Given the description of an element on the screen output the (x, y) to click on. 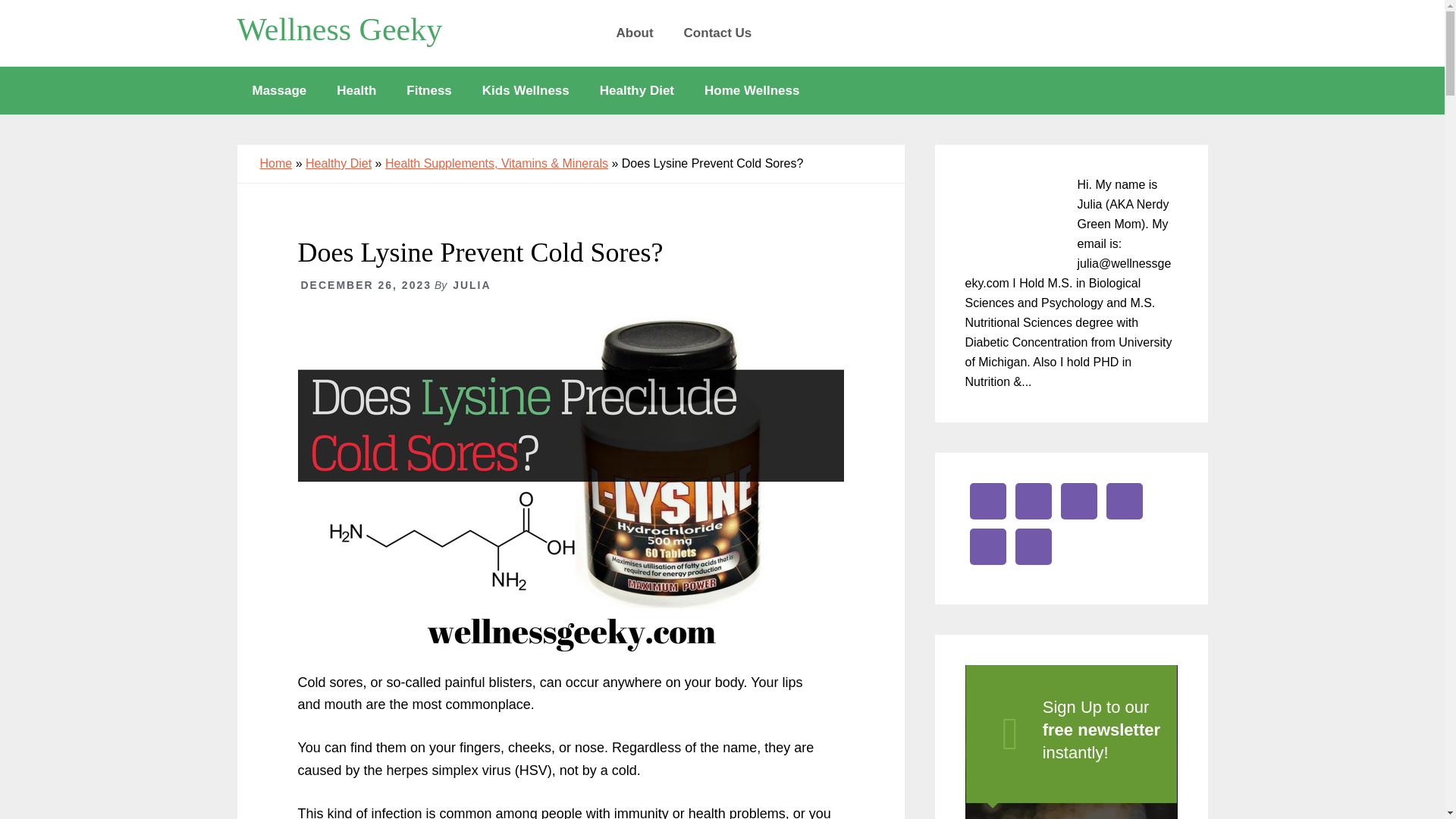
Home Wellness (750, 90)
Contact Us (717, 32)
Home (275, 163)
Healthy Diet (338, 163)
JULIA (471, 285)
Massage (278, 90)
Kids Wellness (526, 90)
About (633, 32)
Healthy Diet (636, 90)
Wellness Geeky (338, 29)
